Given the description of an element on the screen output the (x, y) to click on. 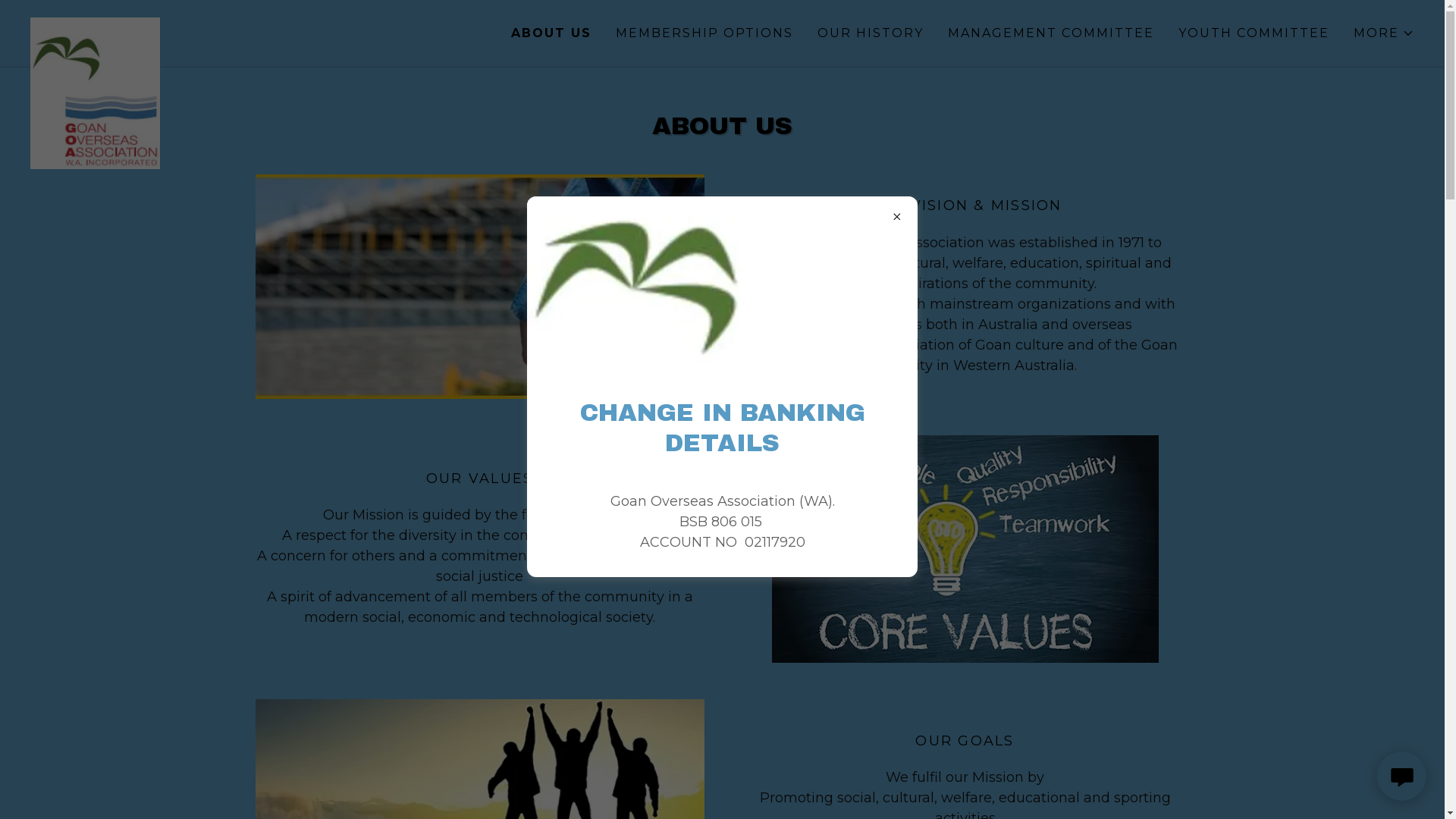
YOUTH COMMITTEE Element type: text (1253, 33)
The Goan Overseas Association  Element type: hover (203, 24)
OUR HISTORY Element type: text (870, 33)
ABOUT US Element type: text (551, 33)
MORE Element type: text (1383, 33)
MANAGEMENT COMMITTEE Element type: text (1050, 33)
MEMBERSHIP OPTIONS Element type: text (704, 33)
